Given the description of an element on the screen output the (x, y) to click on. 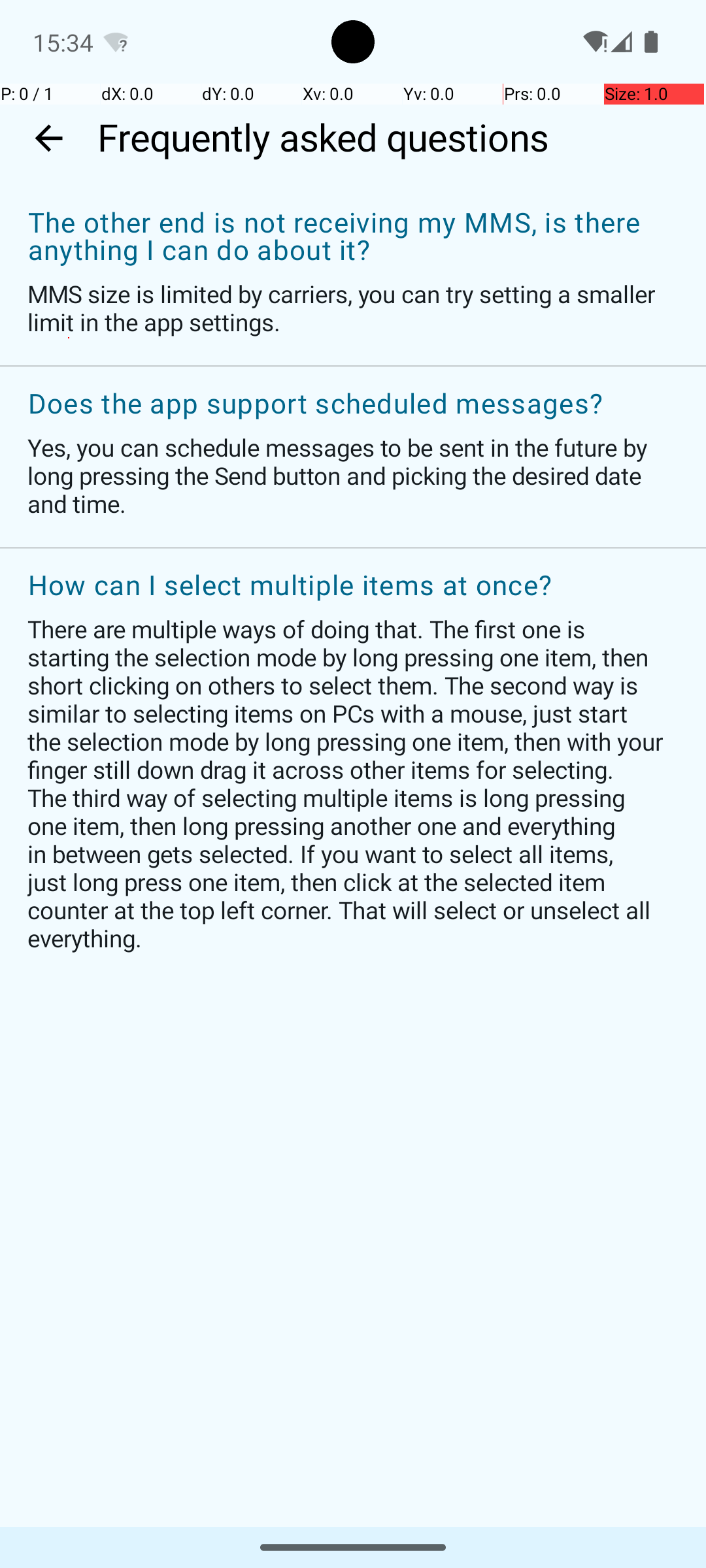
The other end is not receiving my MMS, is there anything I can do about it? Element type: android.widget.TextView (345, 237)
Does the app support scheduled messages? Element type: android.widget.TextView (345, 404)
How can I select multiple items at once? Element type: android.widget.TextView (345, 585)
MMS size is limited by carriers, you can try setting a smaller limit in the app settings. Element type: android.widget.TextView (345, 307)
Yes, you can schedule messages to be sent in the future by long pressing the Send button and picking the desired date and time. Element type: android.widget.TextView (345, 475)
There are multiple ways of doing that. The first one is starting the selection mode by long pressing one item, then short clicking on others to select them. The second way is similar to selecting items on PCs with a mouse, just start the selection mode by long pressing one item, then with your finger still down drag it across other items for selecting. The third way of selecting multiple items is long pressing one item, then long pressing another one and everything in between gets selected. If you want to select all items, just long press one item, then click at the selected item counter at the top left corner. That will select or unselect all everything. Element type: android.widget.TextView (345, 782)
